Given the description of an element on the screen output the (x, y) to click on. 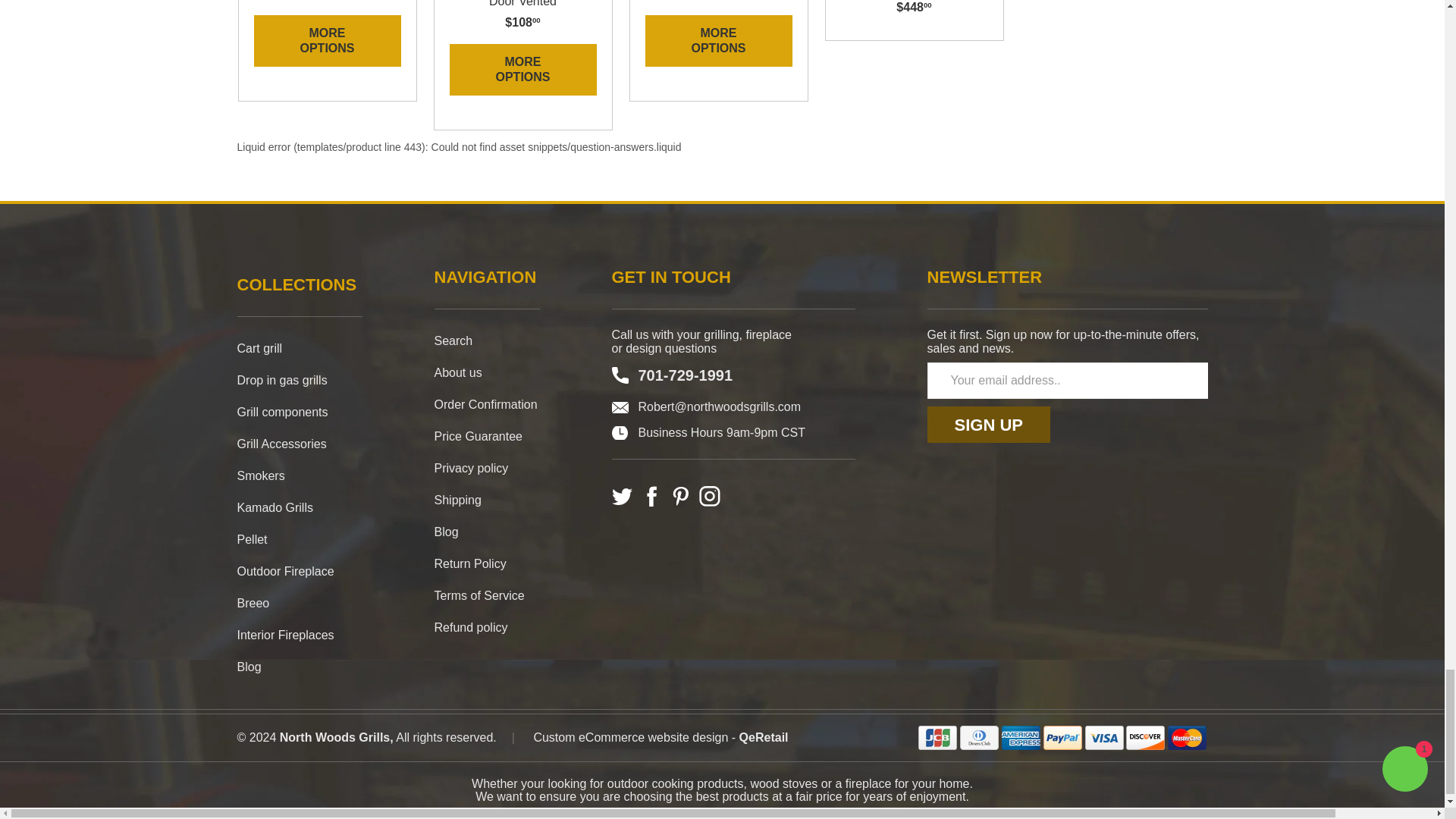
Sign Up (987, 424)
